Given the description of an element on the screen output the (x, y) to click on. 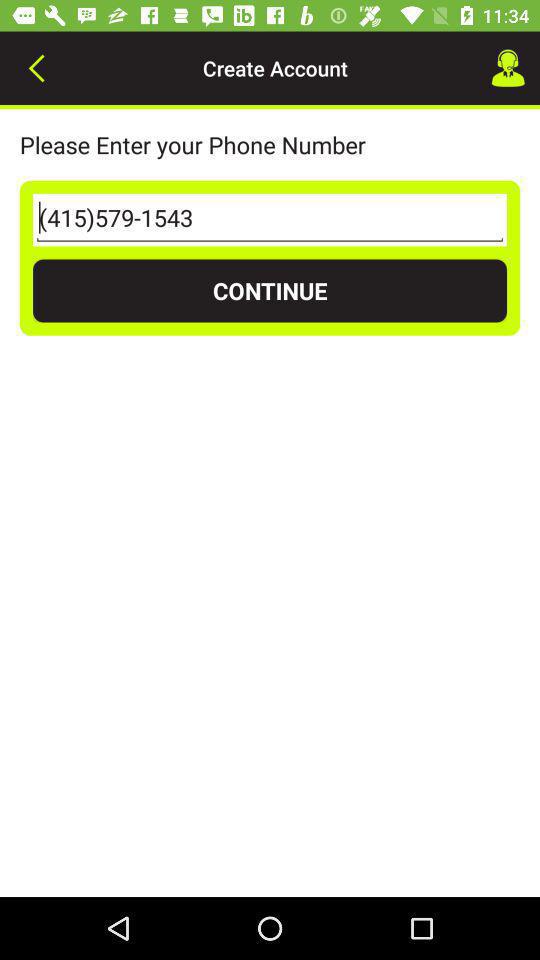
choose icon at the top right corner (508, 67)
